Given the description of an element on the screen output the (x, y) to click on. 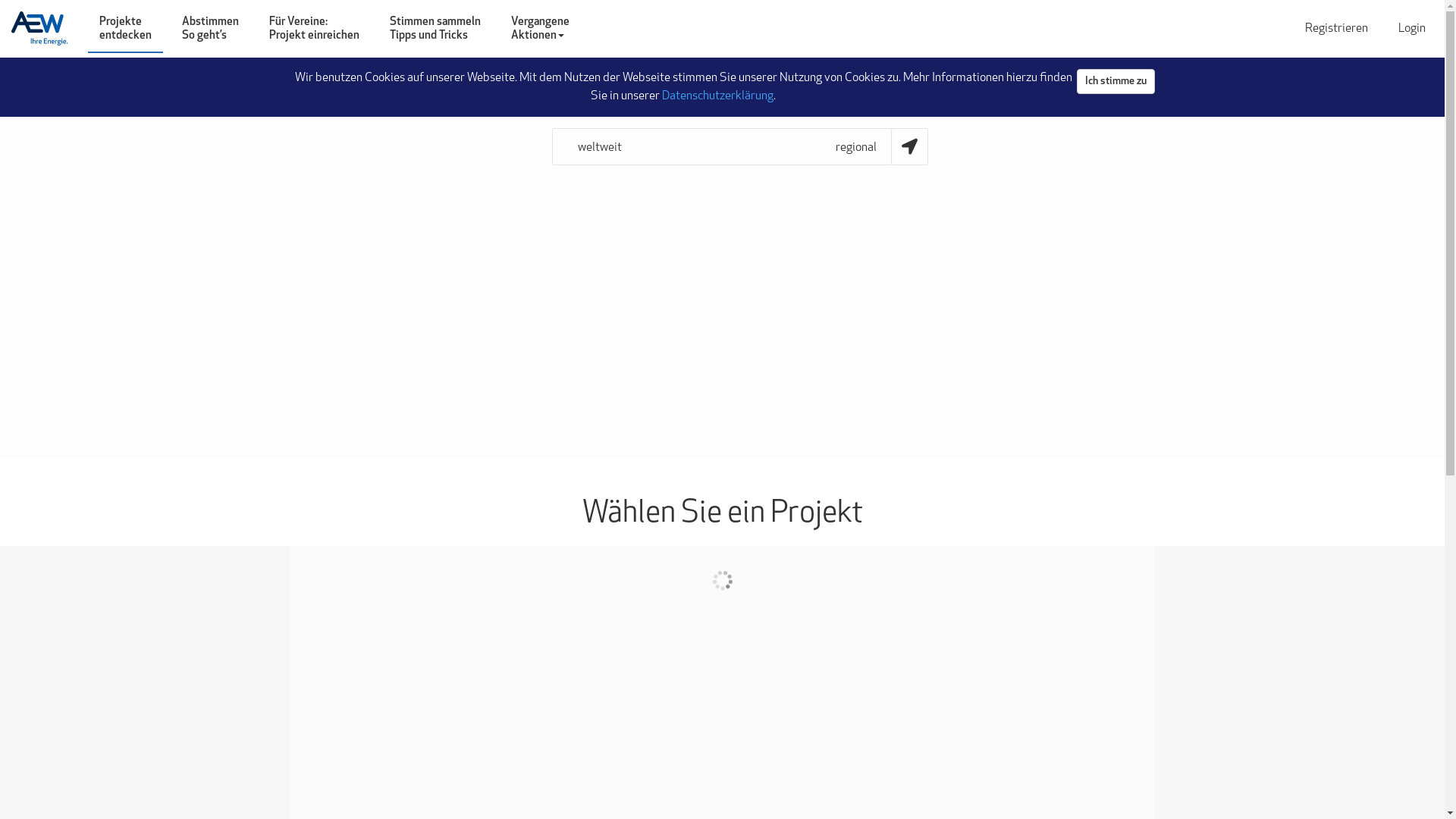
Ich stimme zu Element type: text (1115, 81)
Projekte
entdecken Element type: text (125, 28)
  Element type: text (45, 28)
Login Element type: text (1411, 28)
Registrieren Element type: text (1336, 28)
Vergangene
Aktionen Element type: text (539, 28)
Stimmen sammeln
Tipps und Tricks Element type: text (435, 28)
